Given the description of an element on the screen output the (x, y) to click on. 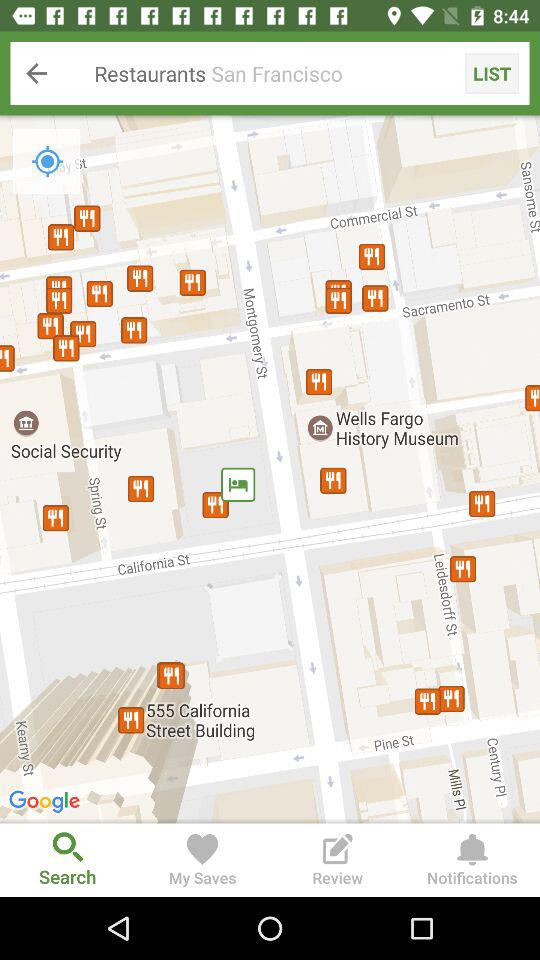
turn off item below restaurants san francisco (270, 469)
